Given the description of an element on the screen output the (x, y) to click on. 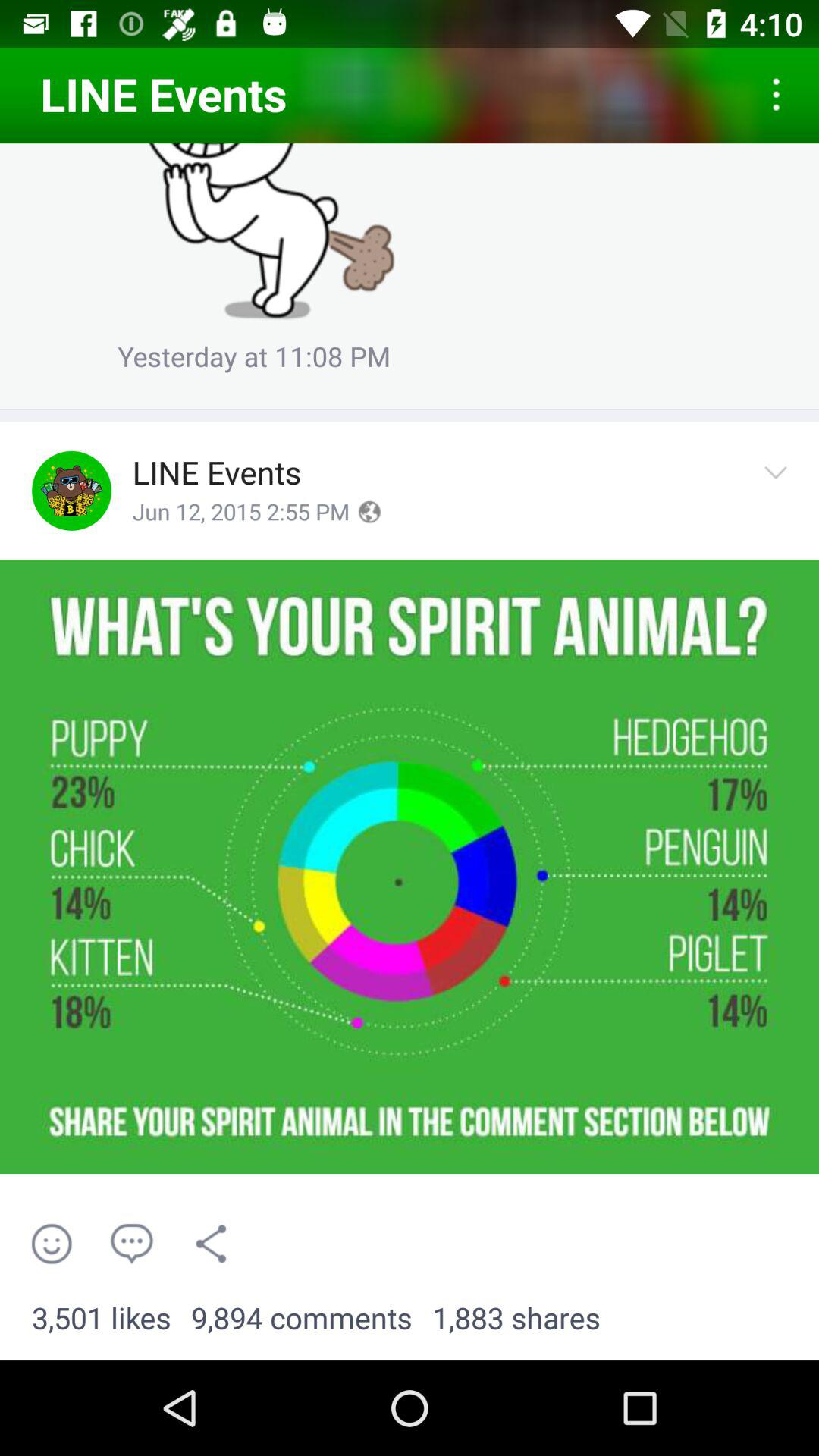
click the icon next to 1,883 shares (301, 1318)
